Given the description of an element on the screen output the (x, y) to click on. 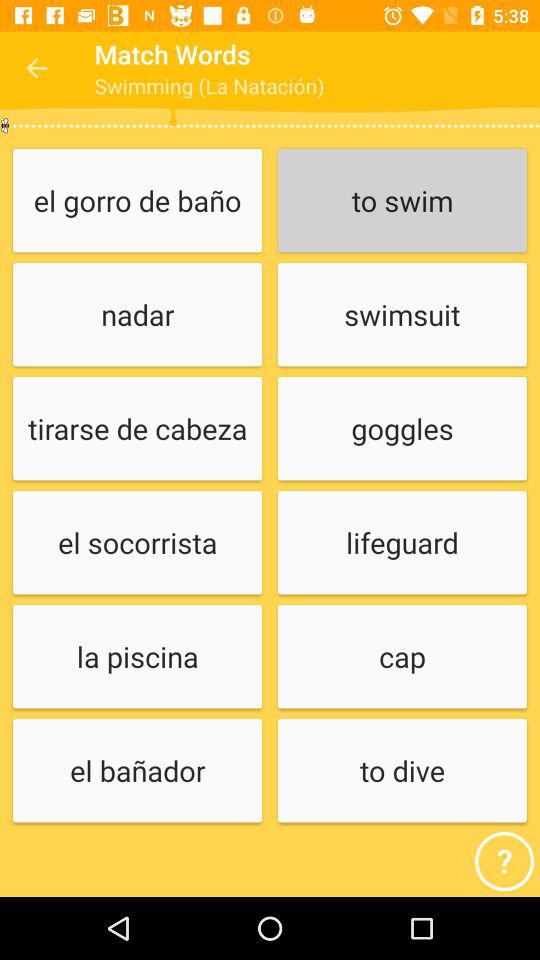
launch tirarse de cabeza icon (137, 429)
